Given the description of an element on the screen output the (x, y) to click on. 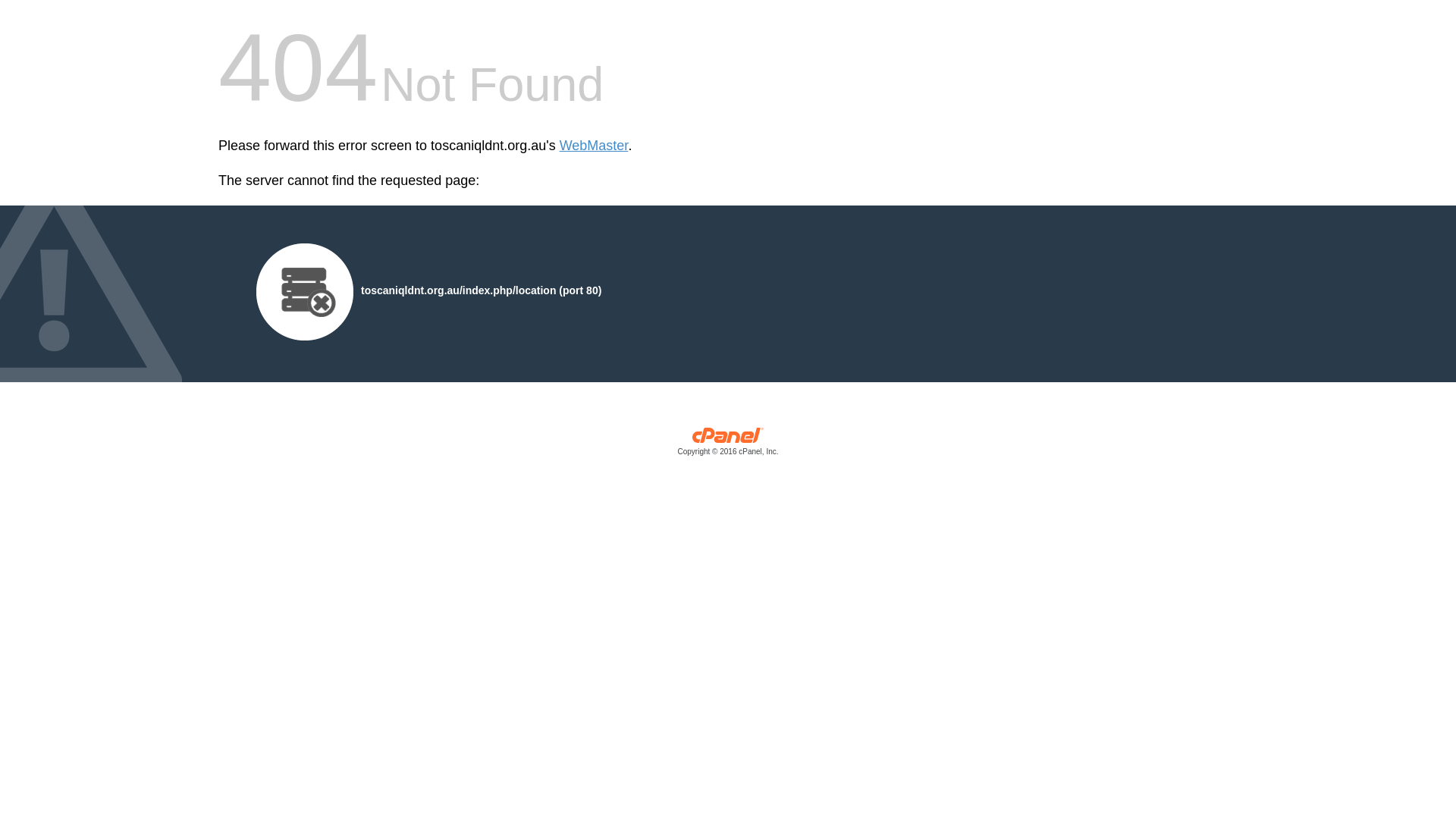
WebMaster Element type: text (593, 145)
